Given the description of an element on the screen output the (x, y) to click on. 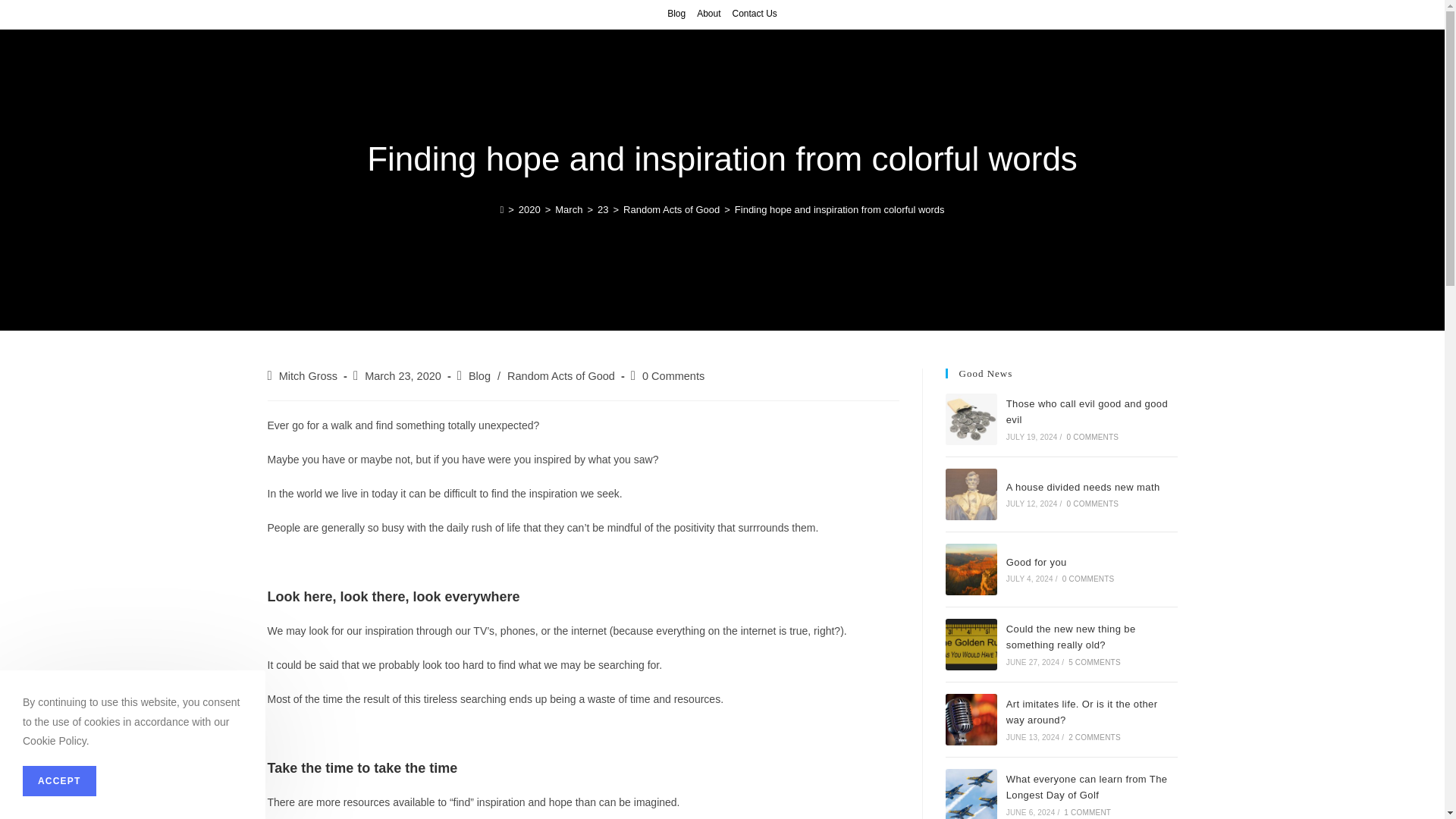
Posts by Mitch Gross (308, 376)
23 (602, 209)
Those who call evil good and good evil (1086, 411)
Mitch Gross (308, 376)
What everyone can learn from The Longest Day of Golf (969, 794)
A house divided needs new math (969, 494)
Contact Us (754, 13)
About (708, 13)
Random Acts of Good (671, 209)
Random Acts of Good (560, 376)
Art imitates life. Or is it the other way around? (969, 719)
Blog (675, 13)
Good for you (969, 569)
0 Comments (673, 376)
Finding hope and inspiration from colorful words (839, 209)
